Given the description of an element on the screen output the (x, y) to click on. 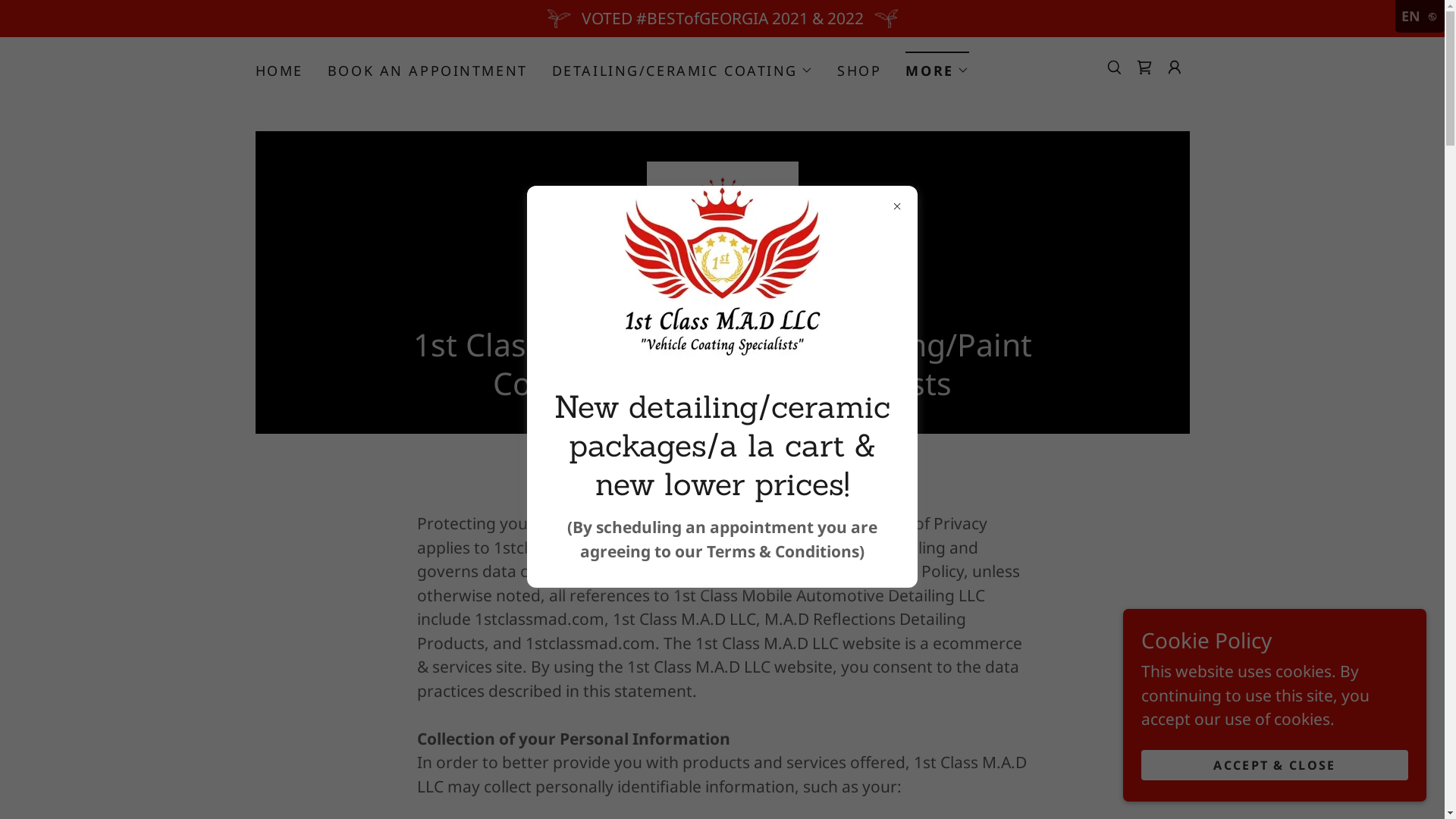
DETAILING/CERAMIC COATING Element type: text (682, 70)
MORE Element type: text (936, 65)
HOME Element type: text (278, 70)
BOOK AN APPOINTMENT Element type: text (427, 70)
ACCEPT & CLOSE Element type: text (1274, 764)
SHOP Element type: text (858, 70)
VOTED #BESTofGEORGIA 2021 & 2022 Element type: text (722, 18)
